Given the description of an element on the screen output the (x, y) to click on. 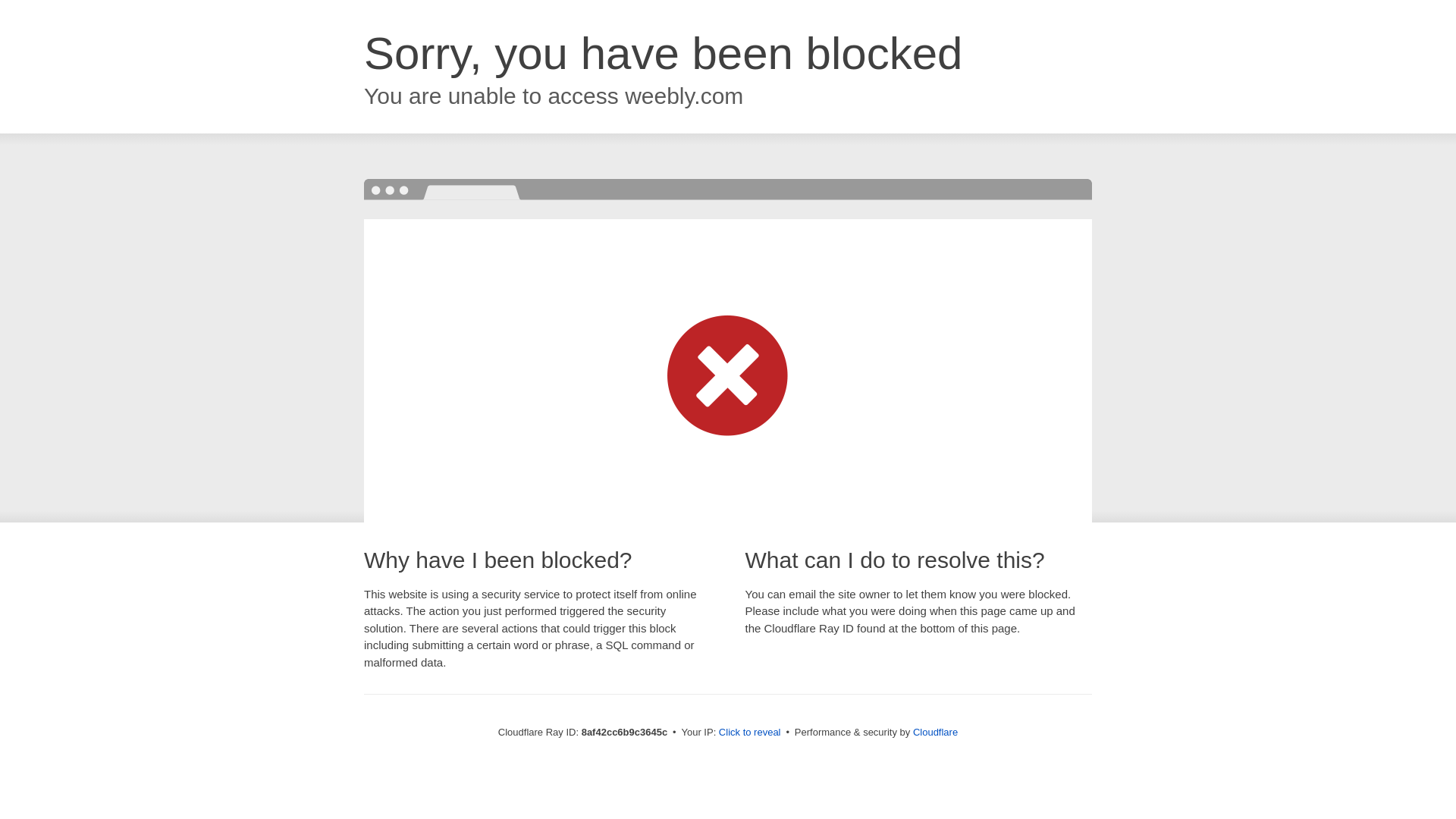
Click to reveal (749, 732)
Cloudflare (935, 731)
